Given the description of an element on the screen output the (x, y) to click on. 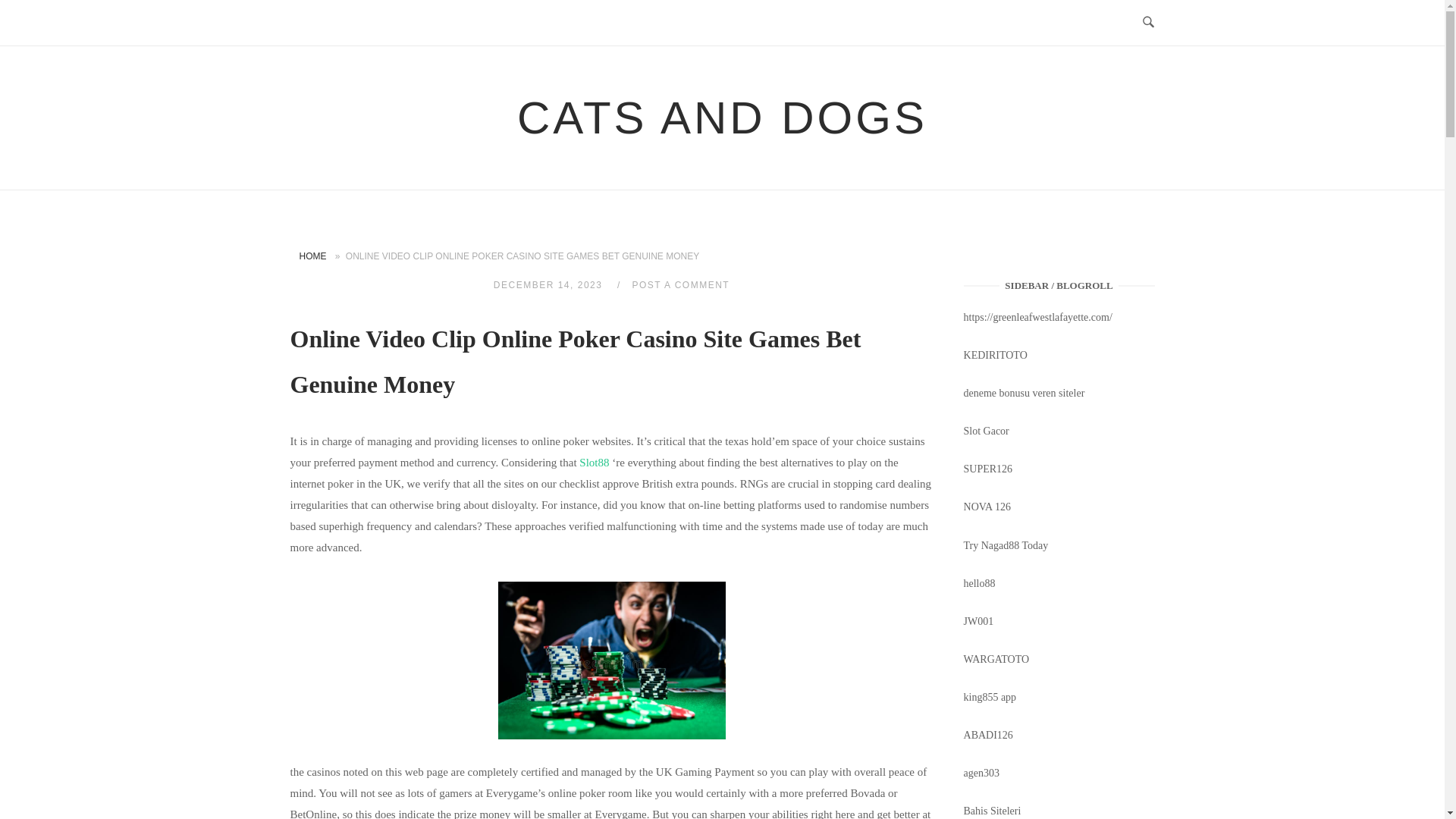
SUPER126 (988, 469)
ABADI126 (988, 735)
POST A COMMENT (680, 285)
king855 app (989, 696)
hello88 (979, 583)
JW001 (978, 621)
CATS AND DOGS (721, 117)
Try Nagad88 Today (1005, 545)
Slot Gacor (986, 430)
KEDIRITOTO (995, 355)
agen303 (980, 772)
Slot88 (593, 462)
deneme bonusu veren siteler (1023, 392)
HOME (312, 255)
NOVA 126 (986, 506)
